Given the description of an element on the screen output the (x, y) to click on. 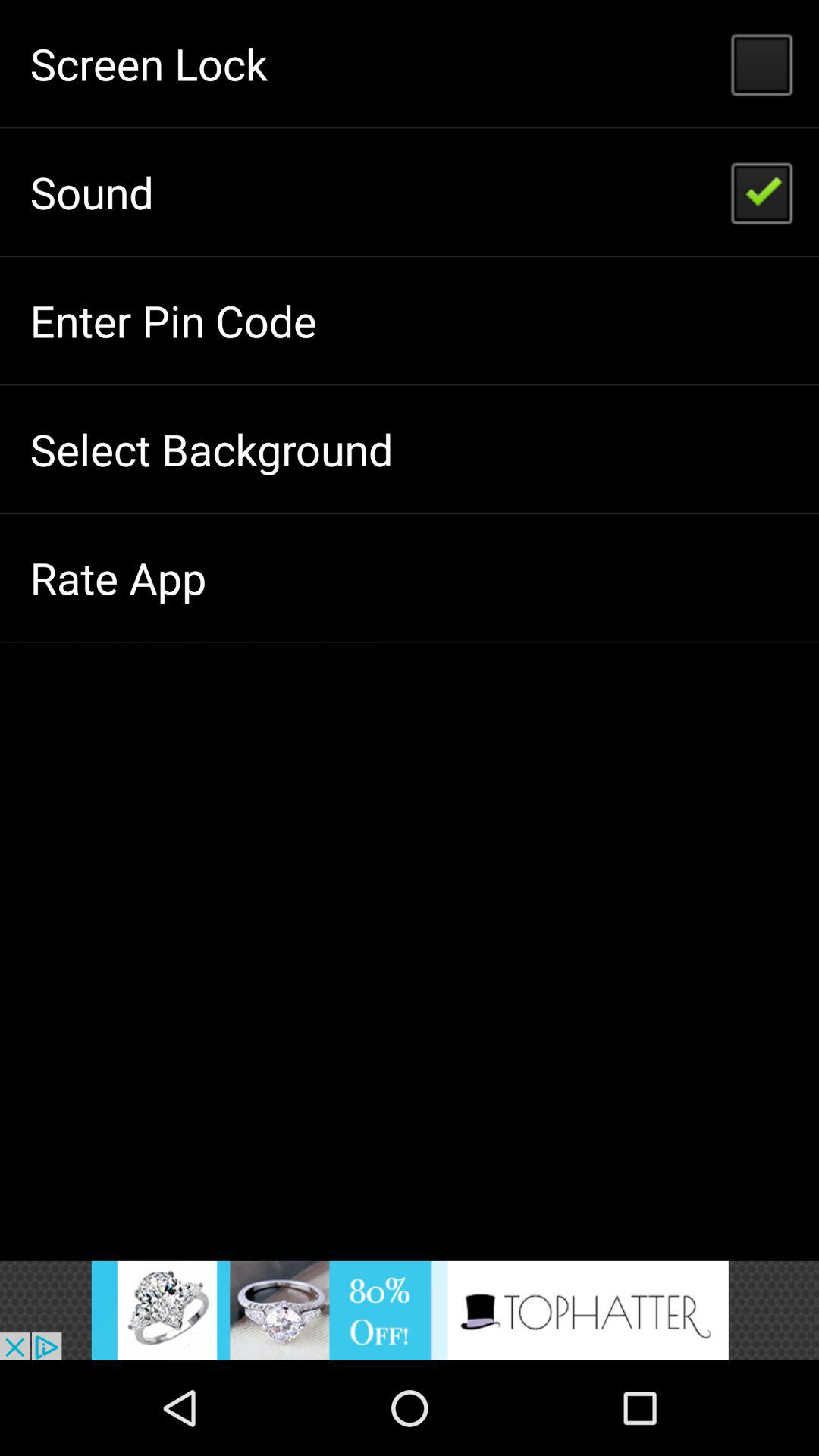
sound on button (409, 1310)
